Given the description of an element on the screen output the (x, y) to click on. 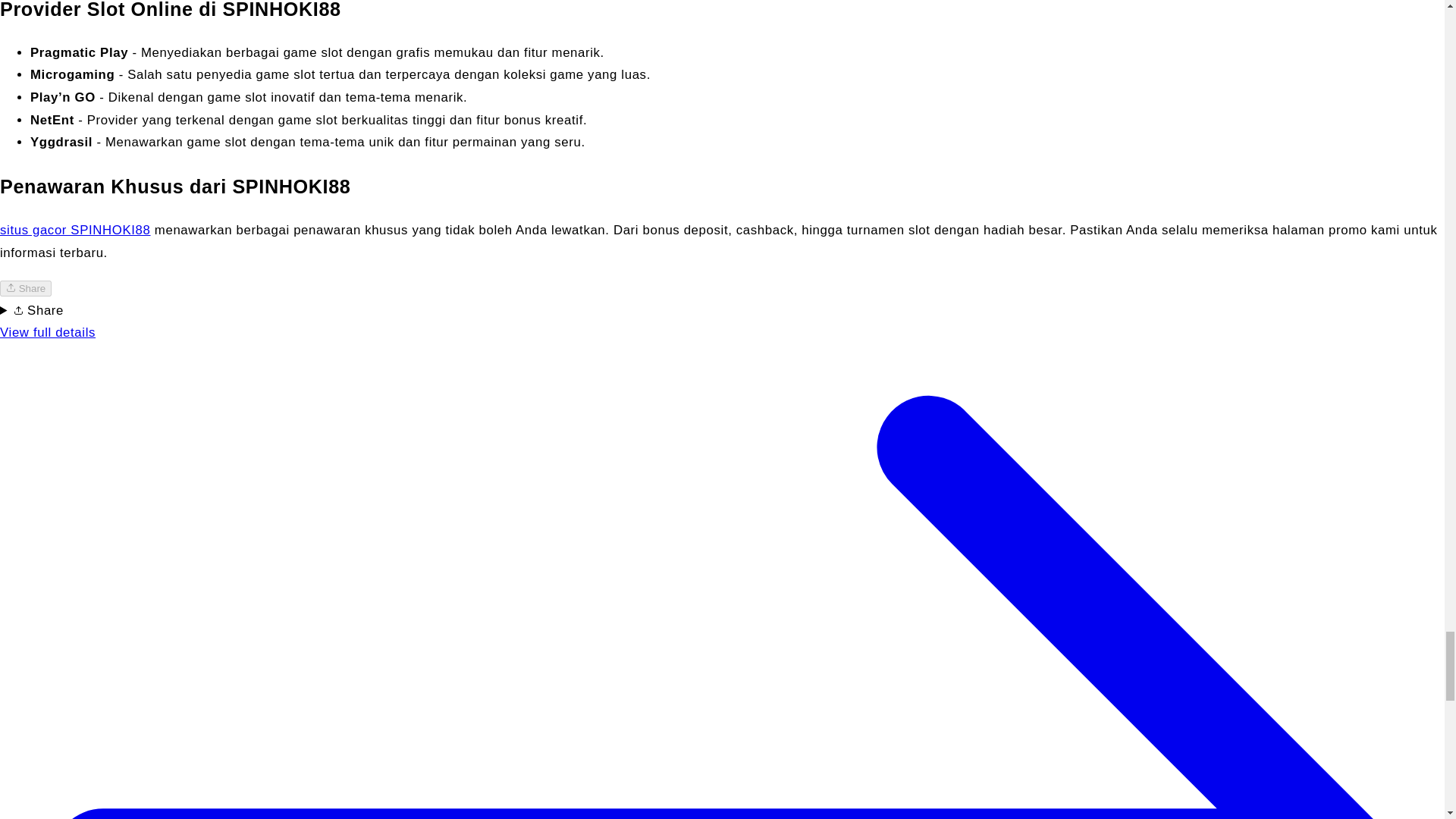
situs gacor SPINHOKI88 (75, 229)
Share (25, 288)
